Given the description of an element on the screen output the (x, y) to click on. 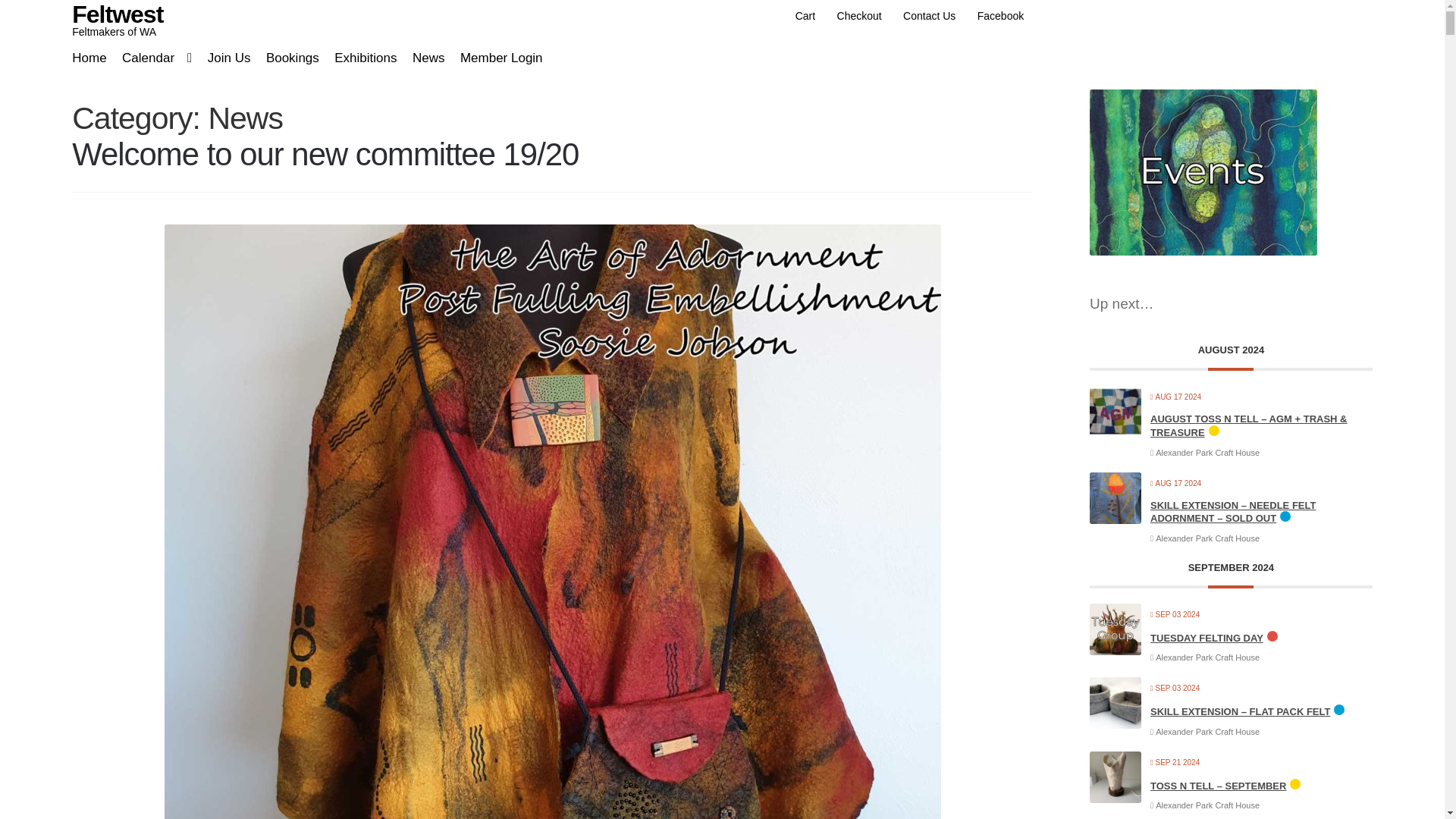
Join Us (222, 60)
Member Login (495, 60)
Facebook (1000, 15)
Cart (805, 15)
Exhibitions (358, 60)
Feltwest (117, 13)
Contact Us (929, 15)
Checkout (859, 15)
News (422, 60)
Bookings (285, 60)
